Given the description of an element on the screen output the (x, y) to click on. 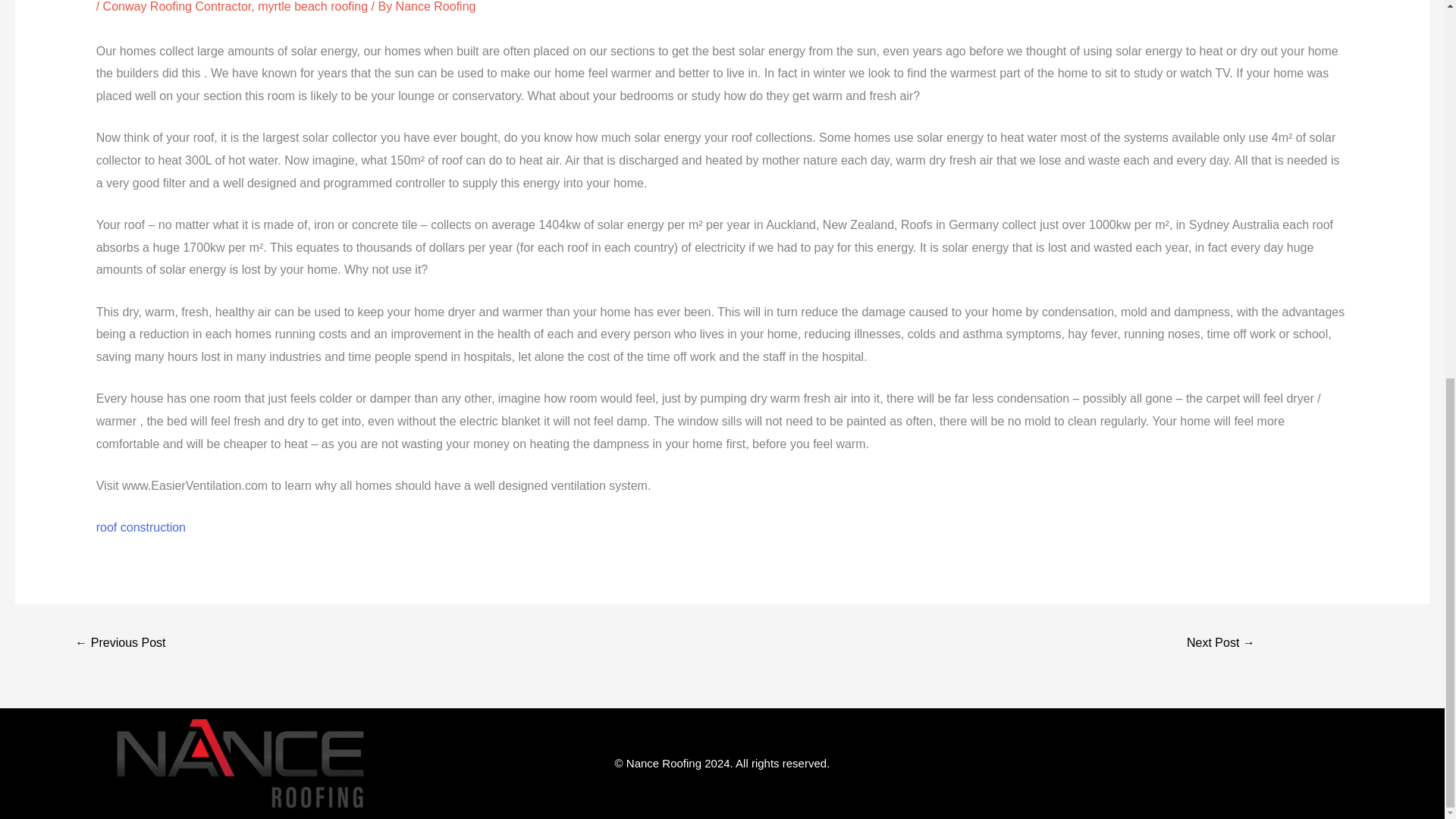
Solar Shingles Vs Solar Panels (119, 643)
View all posts by Nance Roofing (436, 6)
Solar Pool Heaters (1220, 643)
